Given the description of an element on the screen output the (x, y) to click on. 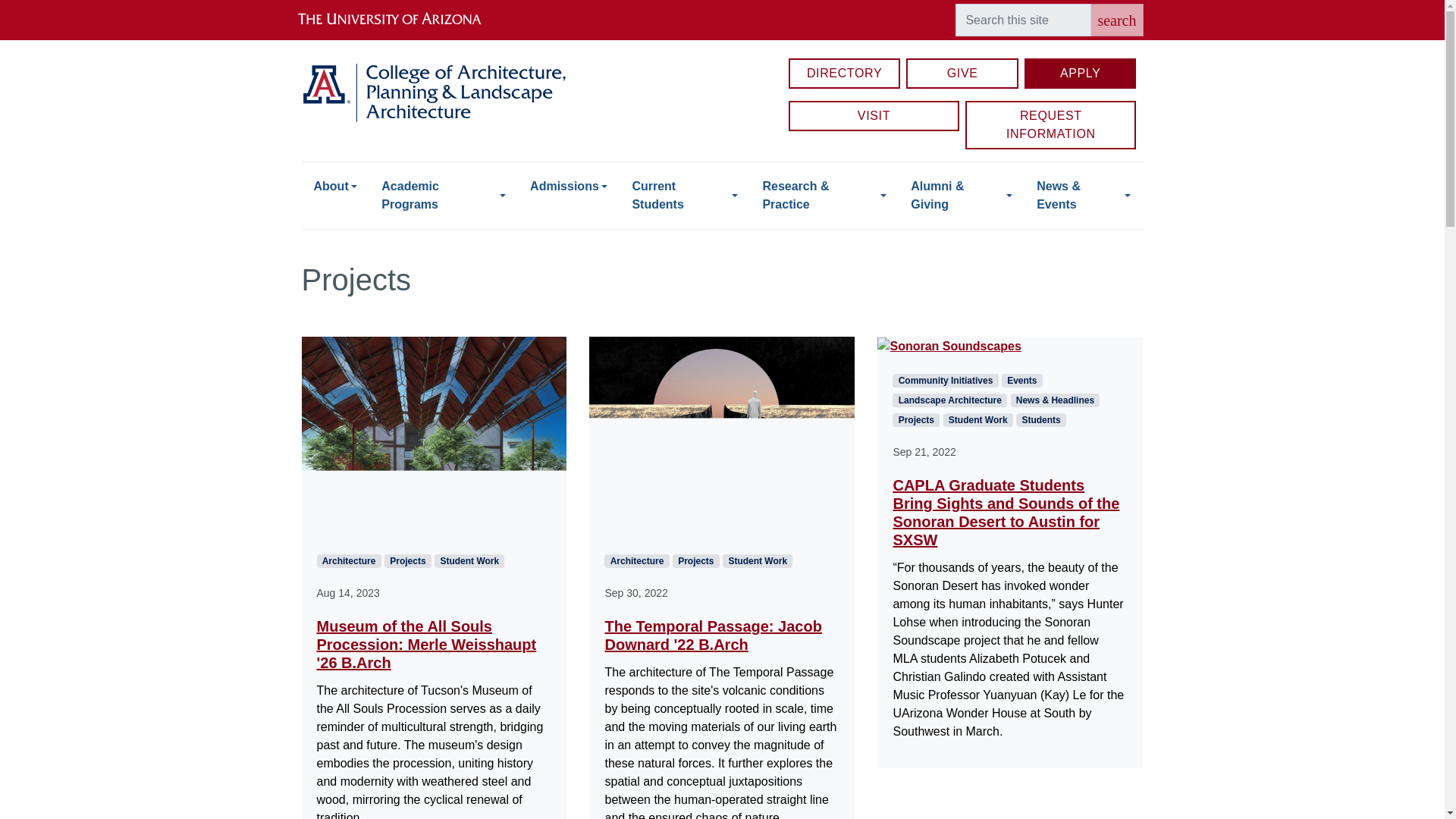
About (335, 186)
Enter the terms you wish to search for. (1022, 20)
APPLY (1081, 73)
DIRECTORY (845, 73)
Admissions (569, 186)
search (1116, 20)
GIVE (961, 73)
Skip to main content (721, 1)
VISIT (874, 115)
Current Students (684, 195)
